Given the description of an element on the screen output the (x, y) to click on. 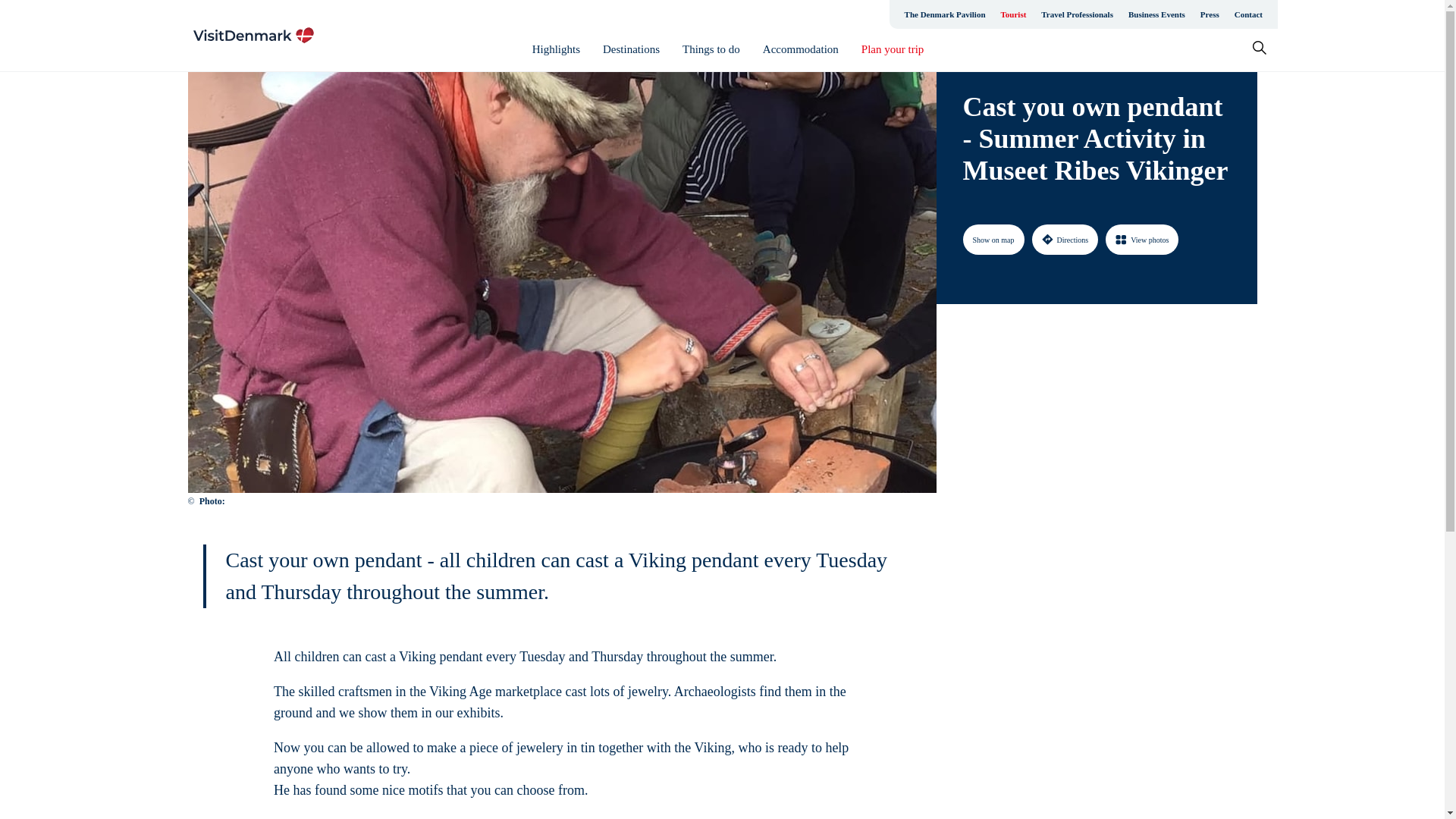
Contact (1248, 14)
Accommodation (800, 49)
Tourist (1012, 14)
Directions (1063, 239)
Things to do (710, 49)
Business Events (1156, 14)
View photos (1141, 239)
Press (1209, 14)
The Denmark Pavilion (944, 14)
Travel Professionals (1077, 14)
